Given the description of an element on the screen output the (x, y) to click on. 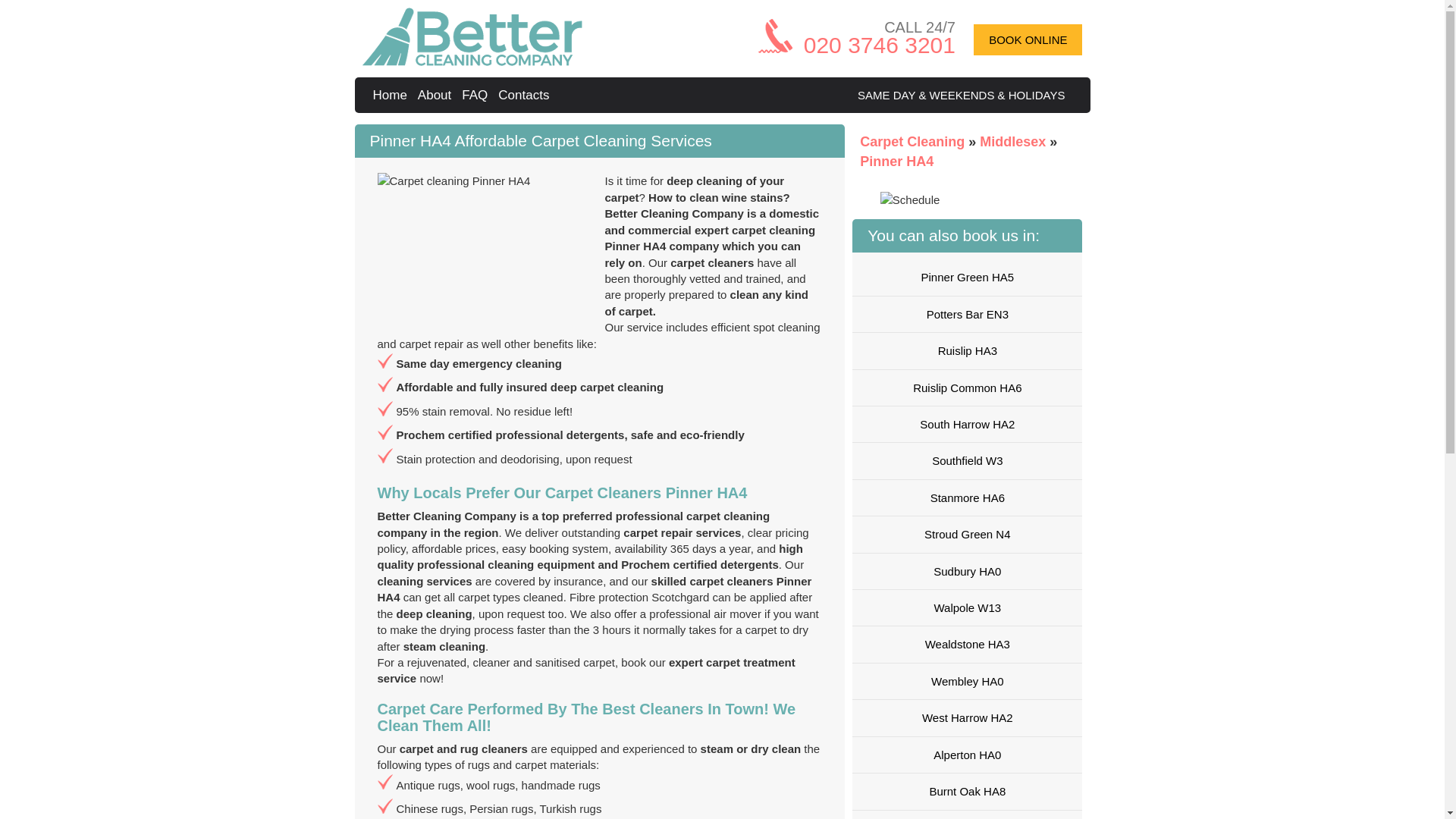
BOOK ONLINE (1027, 39)
020 3746 3201 (879, 45)
BOOK ONLINE (1027, 39)
Ruislip HA3 (966, 350)
Carpet Cleaning (914, 141)
Better Cleaning Company (472, 36)
About (436, 94)
Better Cleaning Company (472, 61)
Middlesex (1014, 141)
Potters Bar EN3 (966, 314)
Better Cleaning Company (391, 94)
